Given the description of an element on the screen output the (x, y) to click on. 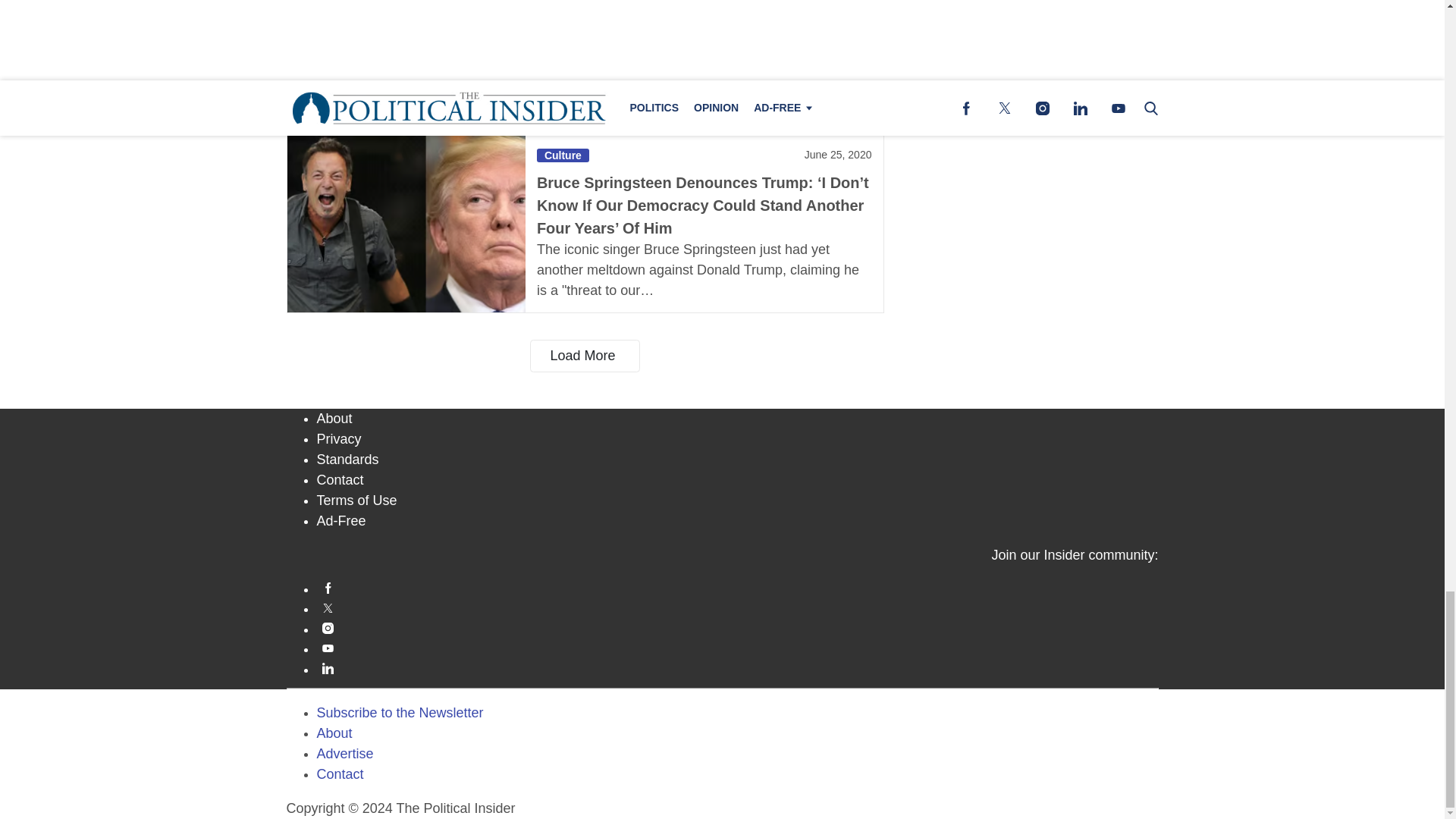
Follow us on Twitter (737, 607)
Follow us on Facebook (737, 587)
